Given the description of an element on the screen output the (x, y) to click on. 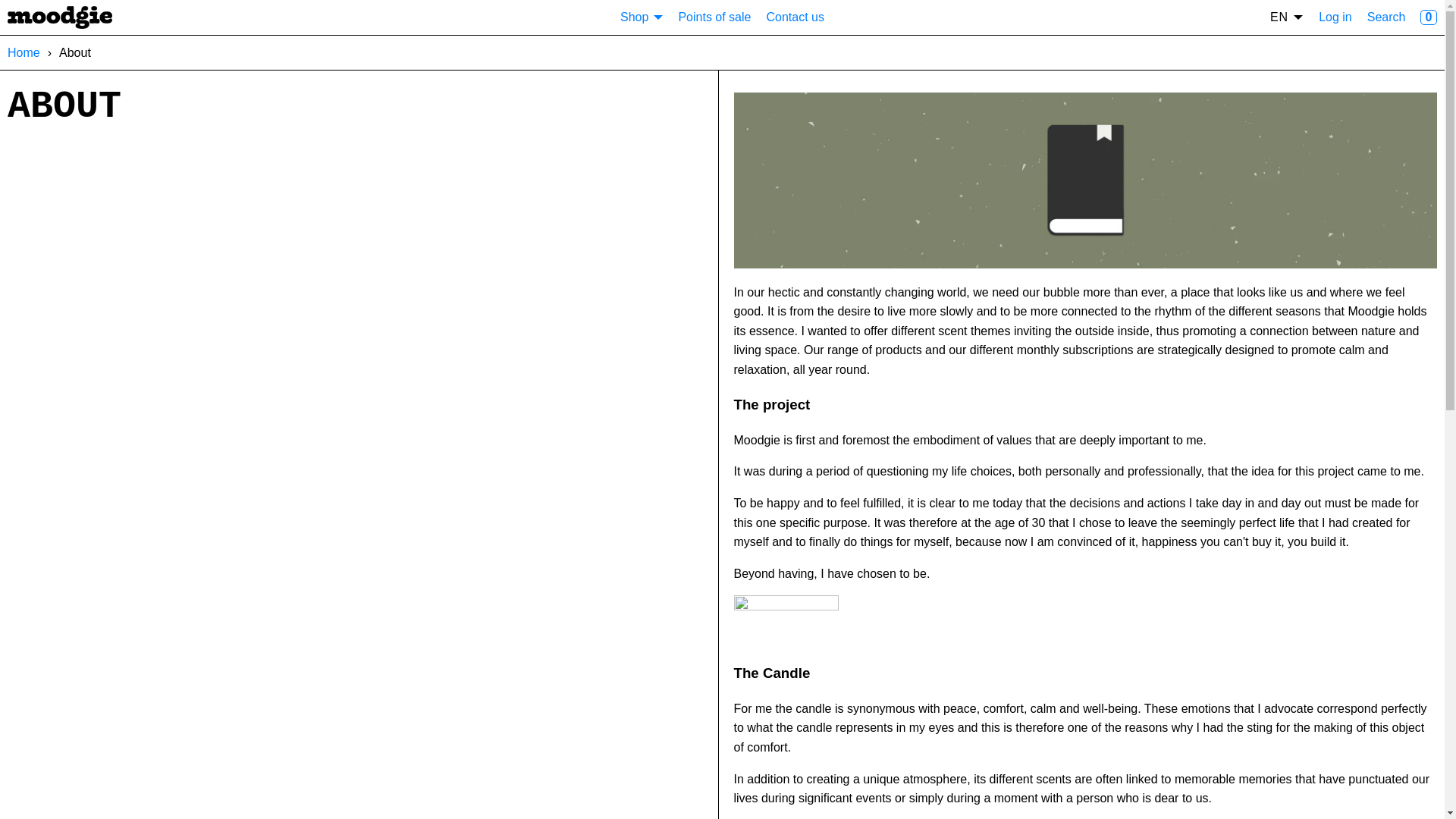
Points of sale (713, 17)
CLOSE (1426, 20)
Search (1385, 17)
Home (23, 53)
Contact us (794, 17)
Home (23, 53)
Log in (1335, 17)
EN (1286, 17)
